Given the description of an element on the screen output the (x, y) to click on. 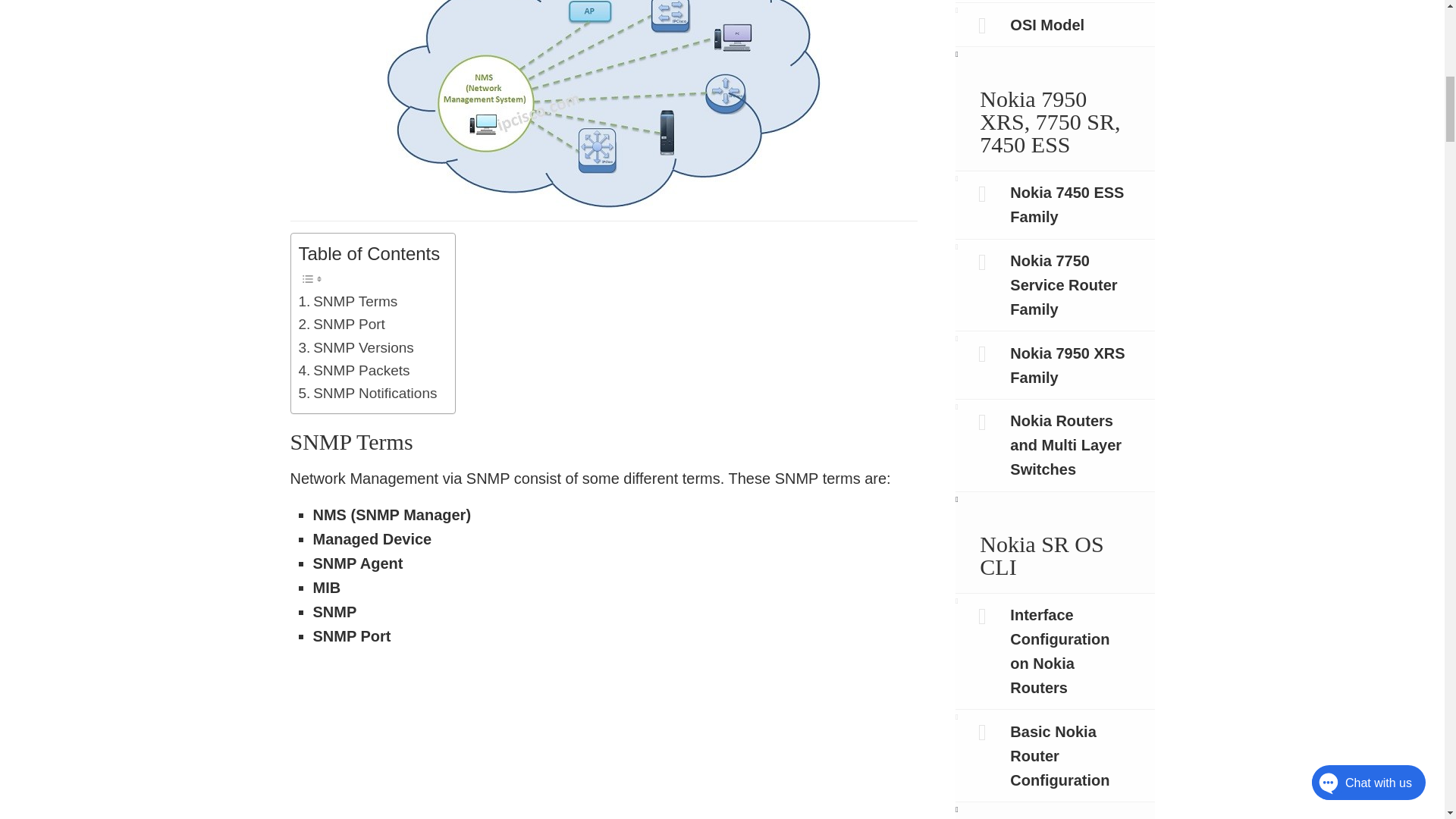
SNMP Port (341, 323)
SNMP Notifications (368, 393)
SNMP Terms (347, 301)
SNMP Versions (355, 347)
SNMP Packets (354, 370)
